Given the description of an element on the screen output the (x, y) to click on. 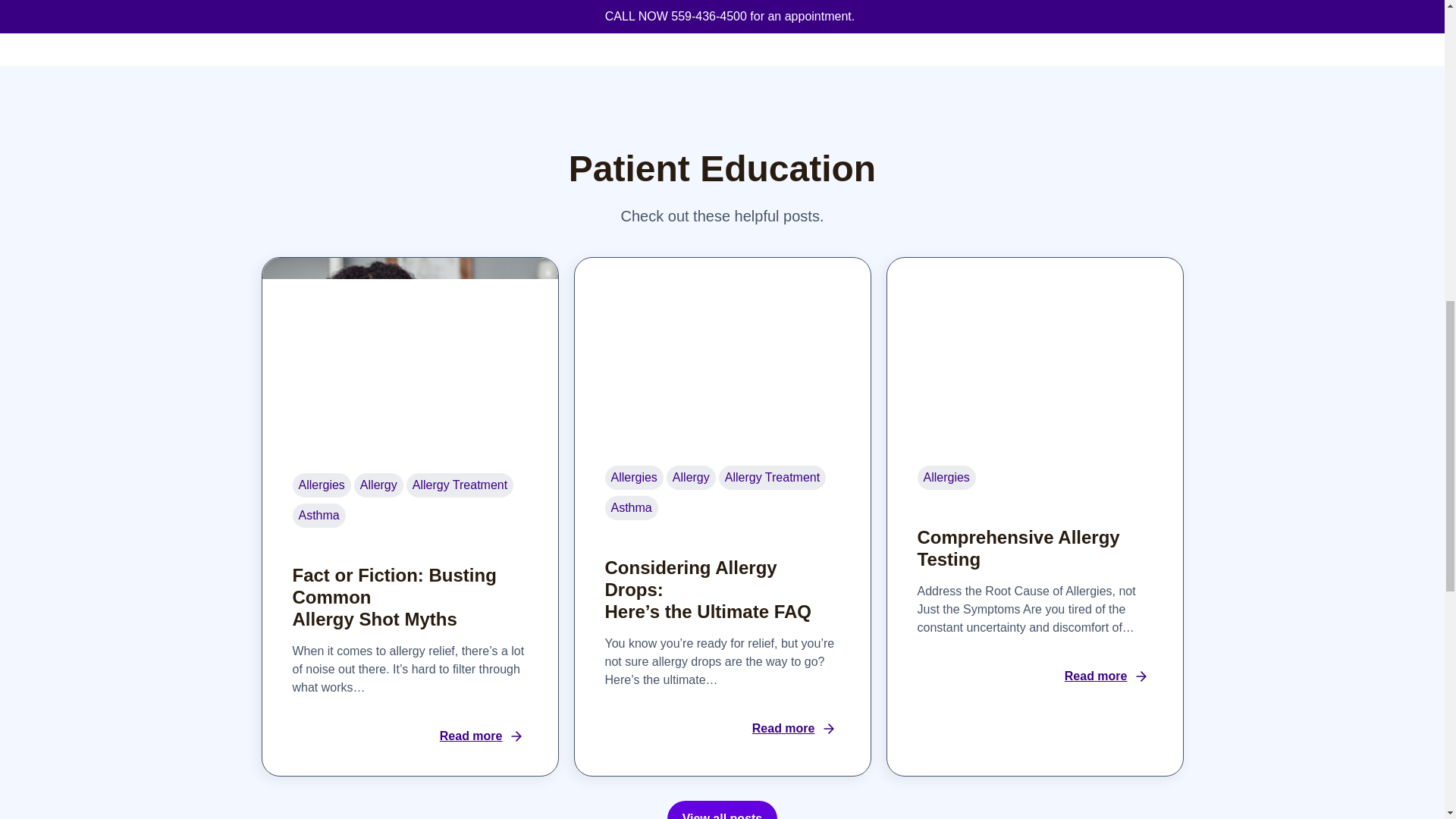
Read more (479, 751)
Read more (792, 743)
View all posts (721, 809)
Read more (1105, 691)
